Given the description of an element on the screen output the (x, y) to click on. 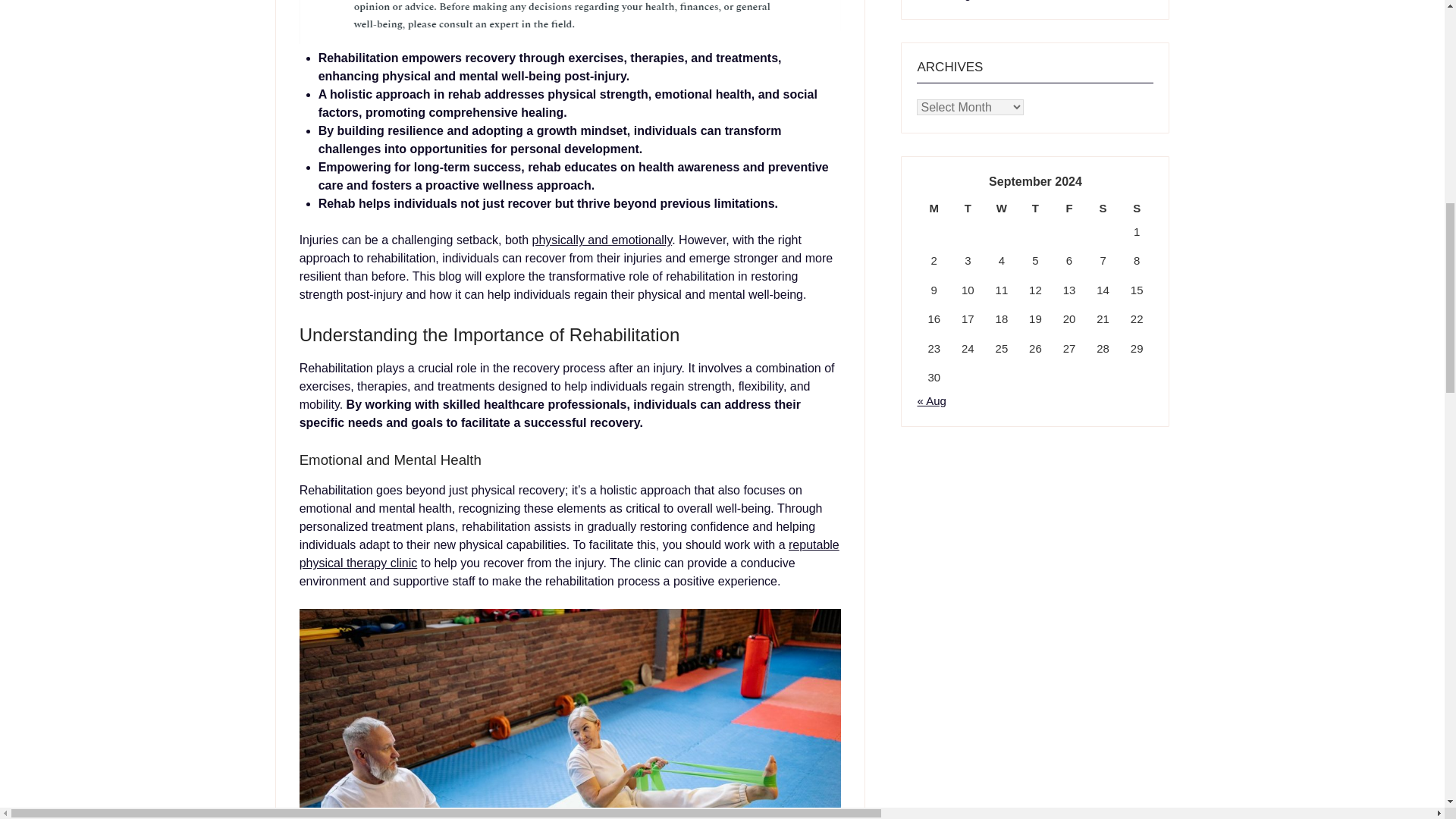
Tuesday (967, 208)
Thursday (1034, 208)
reputable physical therapy clinic (569, 553)
Sunday (1136, 208)
Friday (1069, 208)
Saturday (1102, 208)
Monday (933, 208)
physically and emotionally (602, 239)
Wednesday (1002, 208)
